Given the description of an element on the screen output the (x, y) to click on. 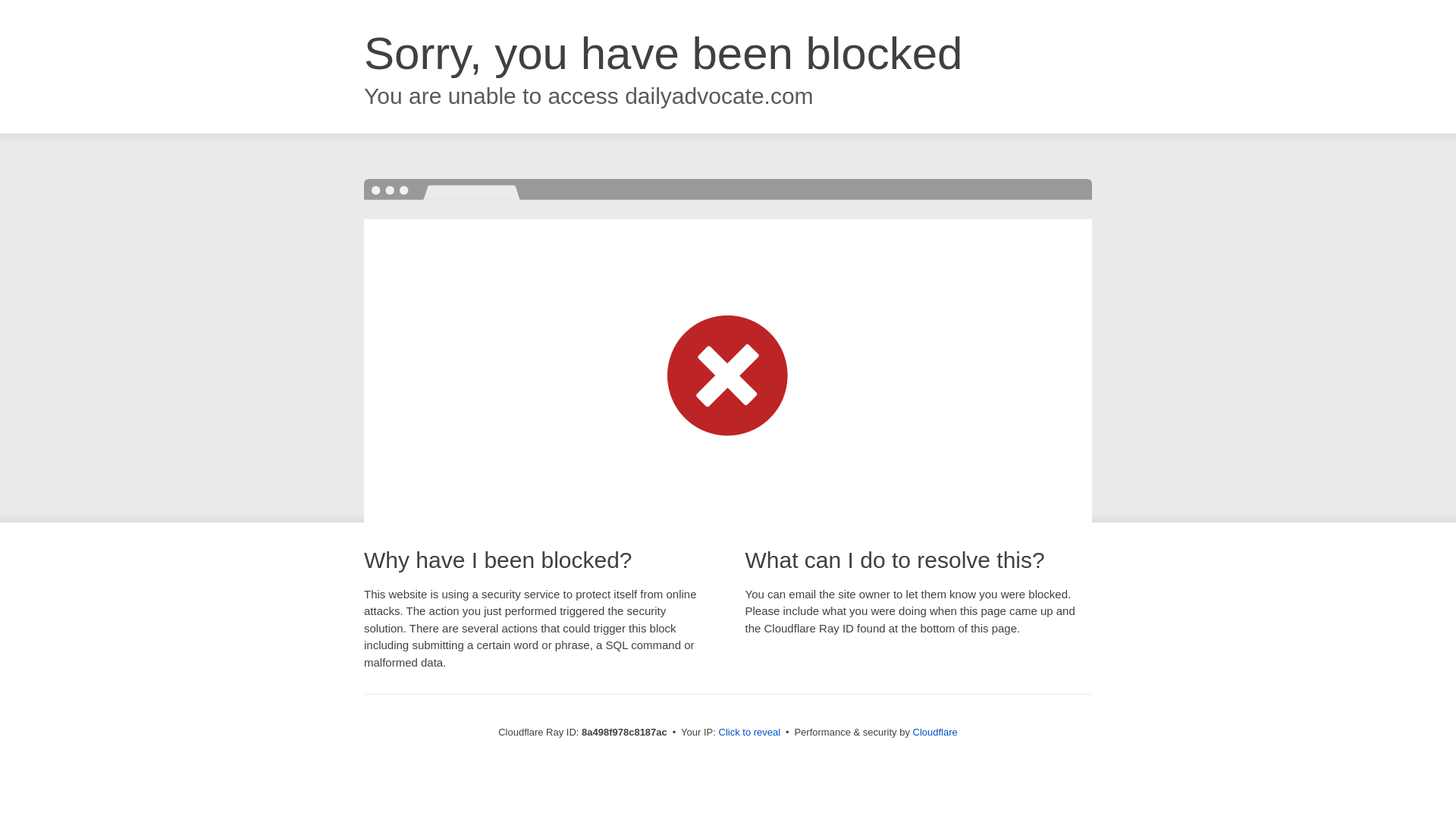
Cloudflare (935, 731)
Click to reveal (749, 732)
